Given the description of an element on the screen output the (x, y) to click on. 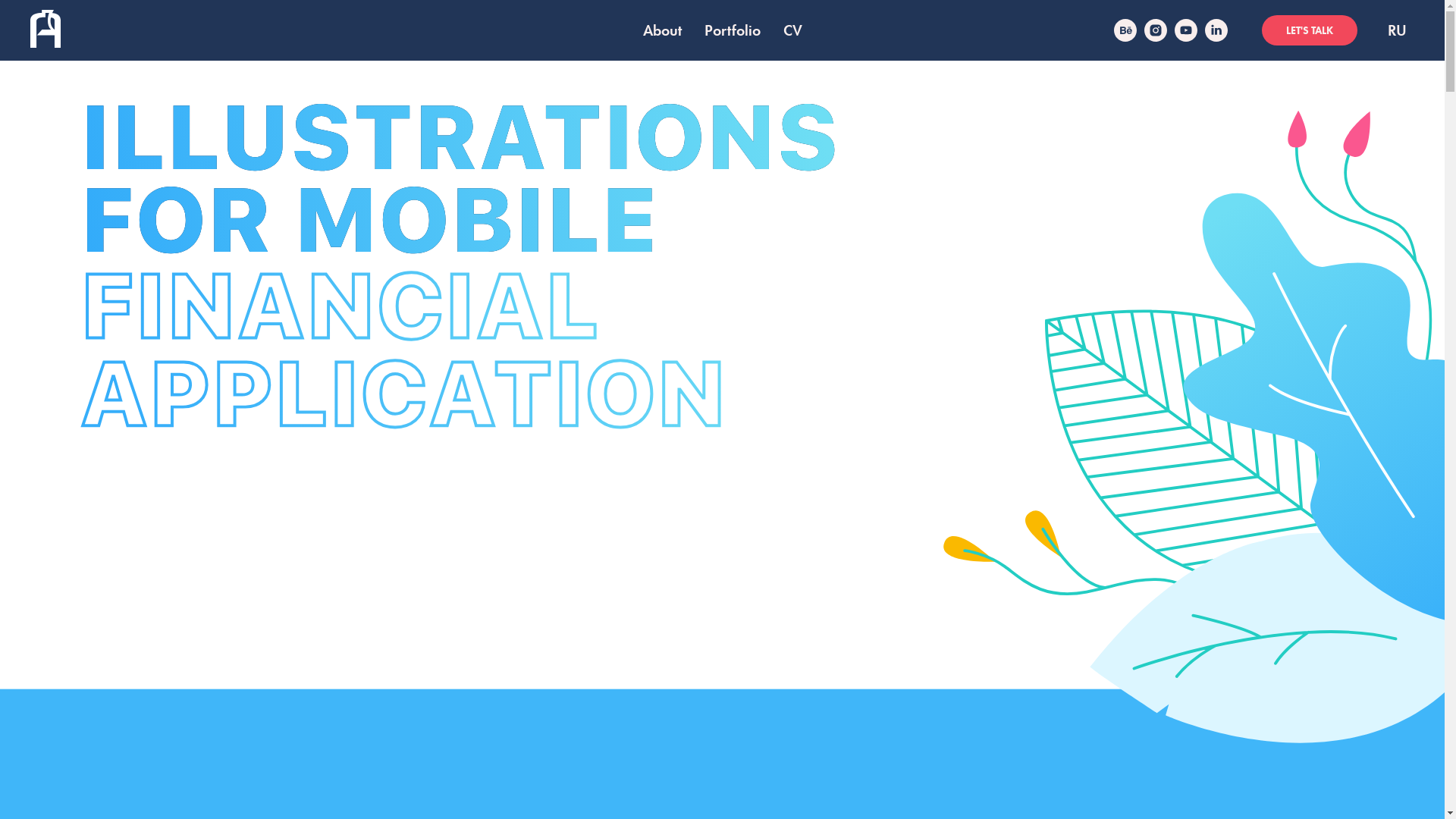
CV Element type: text (791, 30)
EN Element type: text (1396, 30)
RU Element type: text (1396, 30)
Portfolio Element type: text (731, 30)
About Element type: text (662, 30)
LET'S TALK Element type: text (1309, 30)
